Given the description of an element on the screen output the (x, y) to click on. 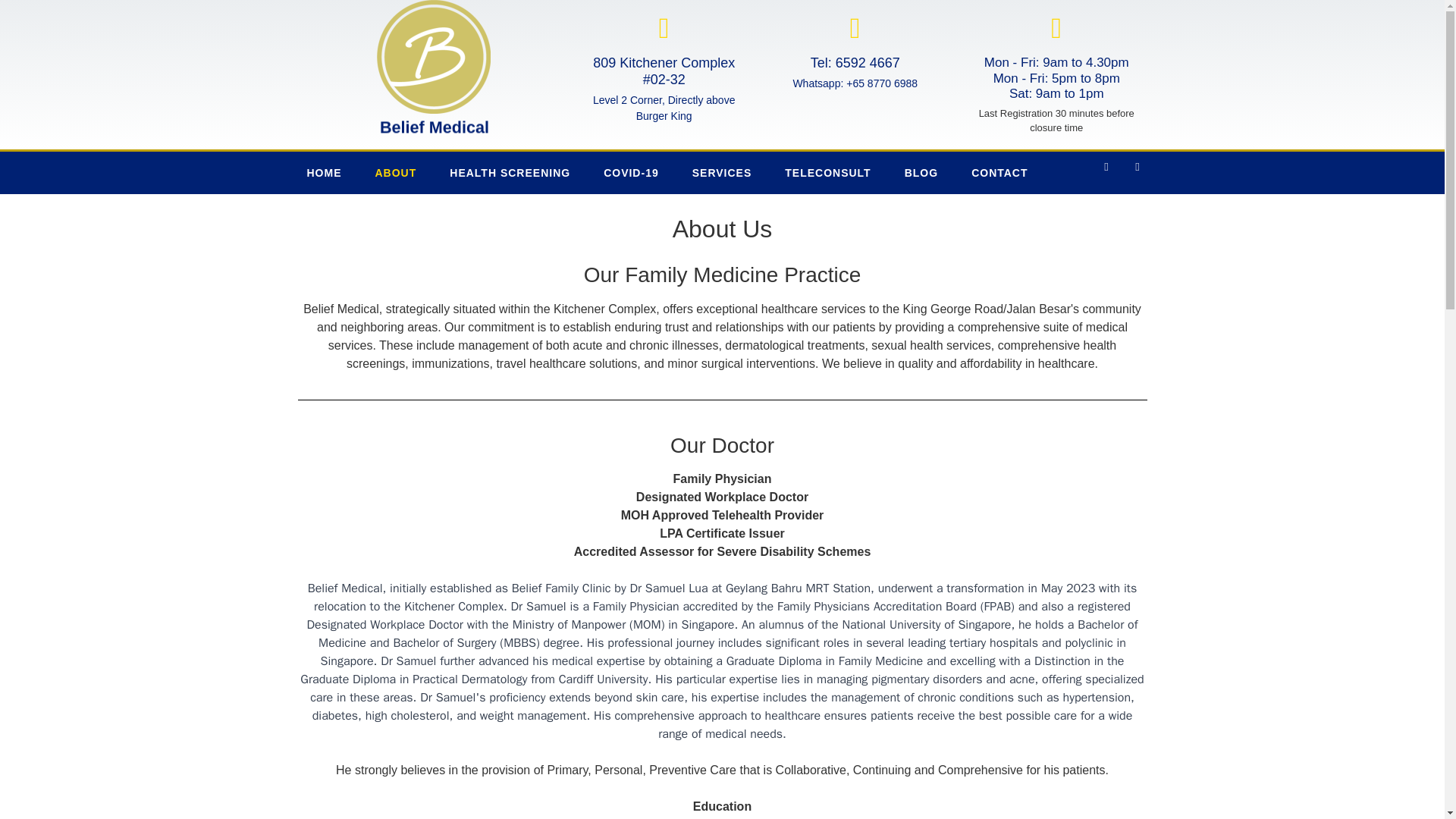
COVID-19 (630, 172)
ABOUT (395, 172)
BLOG (921, 172)
HEALTH SCREENING (509, 172)
TELECONSULT (827, 172)
HOME (323, 172)
Belief Medical (469, 132)
SERVICES (721, 172)
CONTACT (999, 172)
